Given the description of an element on the screen output the (x, y) to click on. 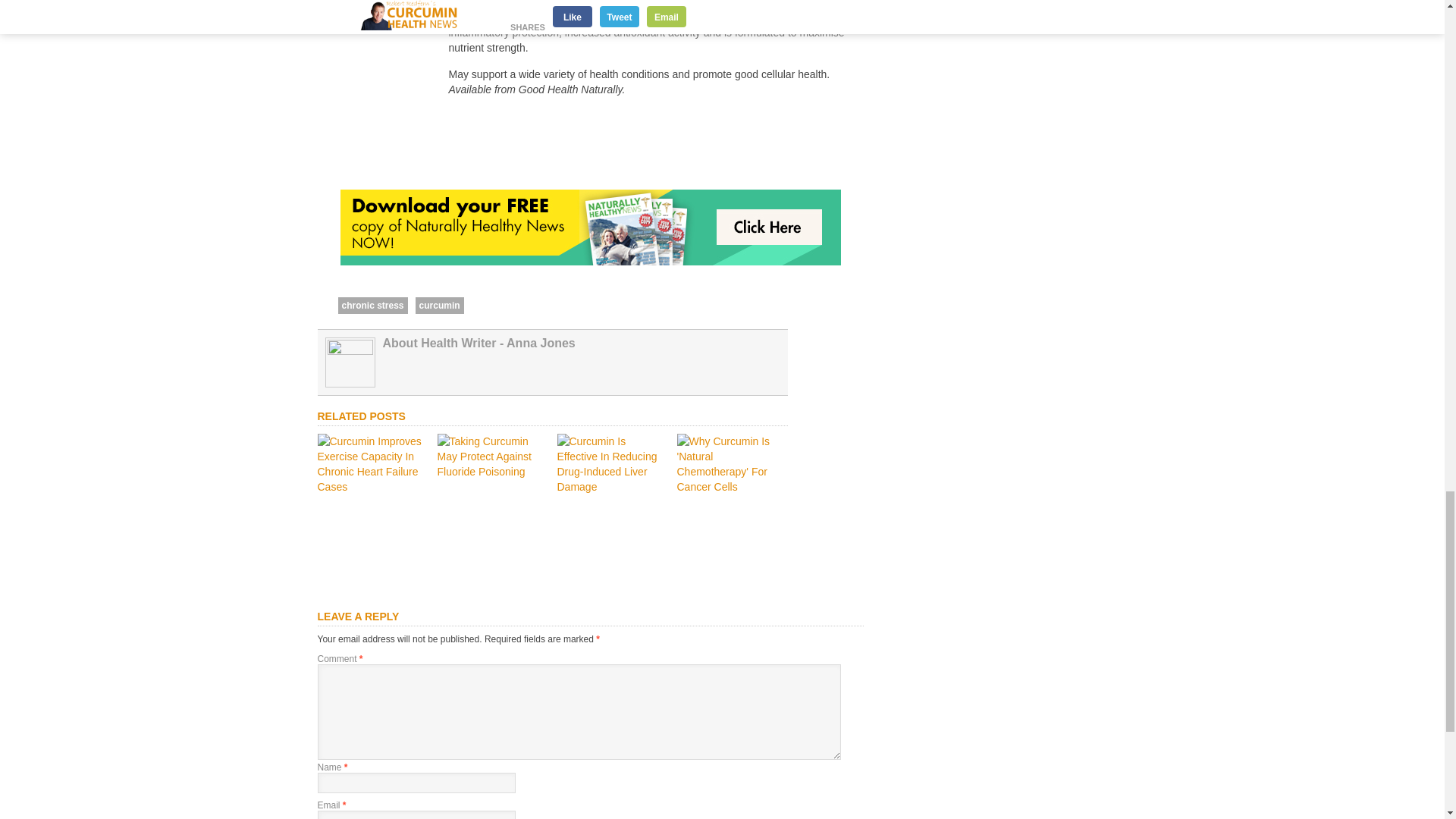
Taking Curcumin May Protect Against Fluoride Poisoning (491, 471)
Curcumin Is Effective In Reducing Drug-Induced Liver Damage (611, 486)
